Given the description of an element on the screen output the (x, y) to click on. 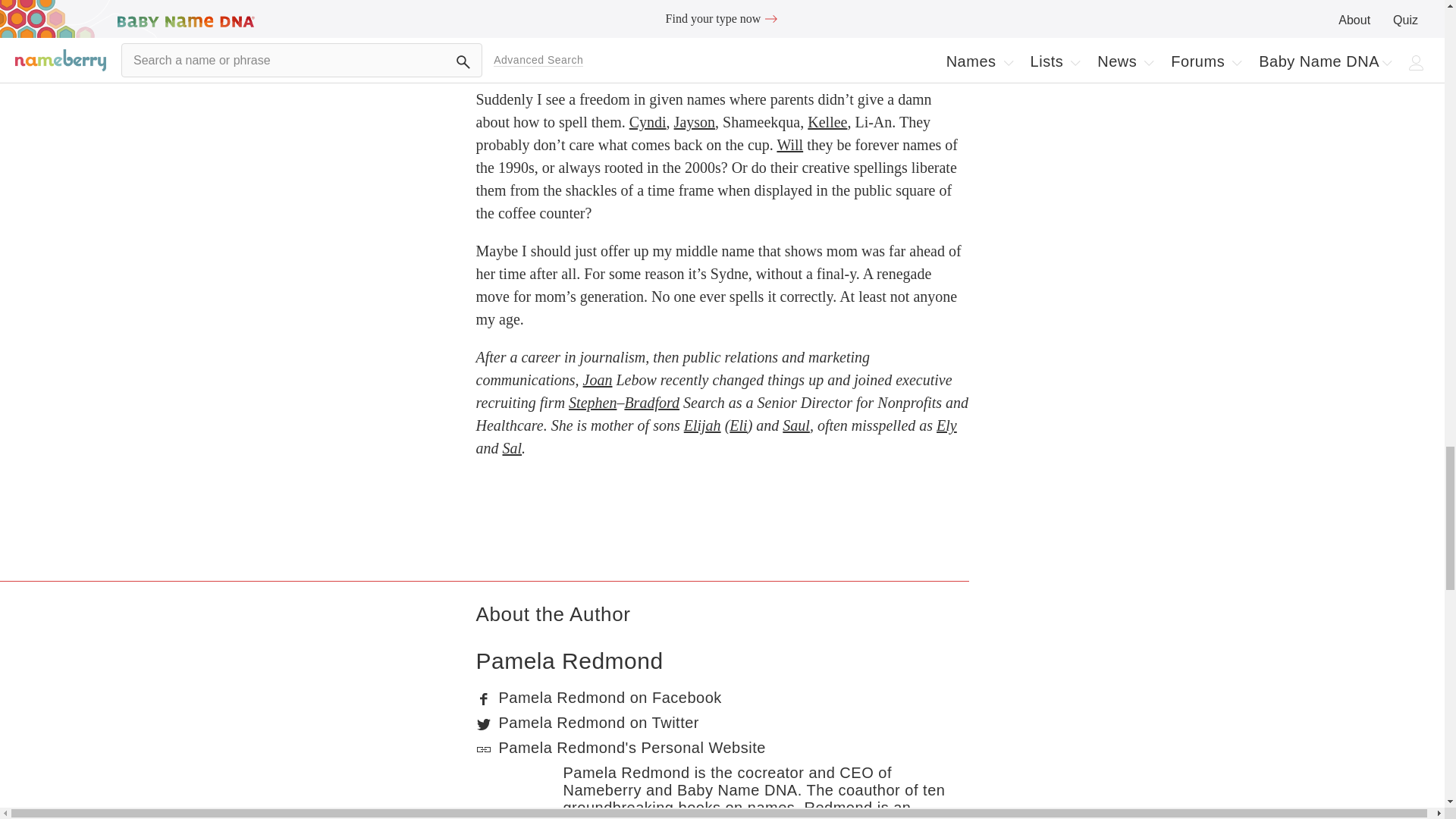
Twitter (484, 724)
Facebook (484, 698)
Link (484, 749)
